Given the description of an element on the screen output the (x, y) to click on. 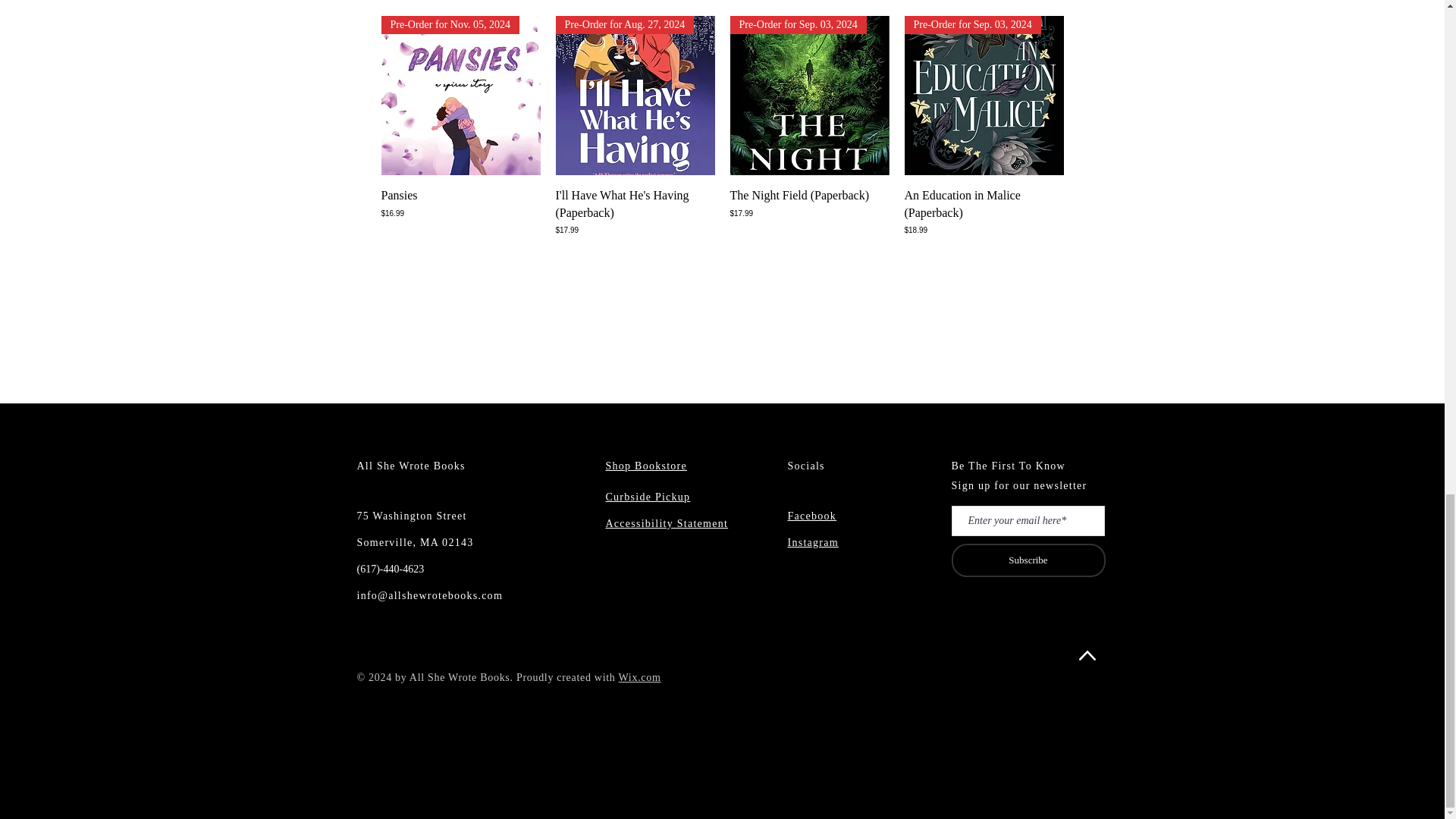
Pre-Order for Aug. 27, 2024 (634, 95)
Pre-Order for Sep. 03, 2024 (983, 95)
Pre-Order for Sep. 03, 2024 (808, 95)
Pre-Order for Nov. 05, 2024 (460, 95)
